Given the description of an element on the screen output the (x, y) to click on. 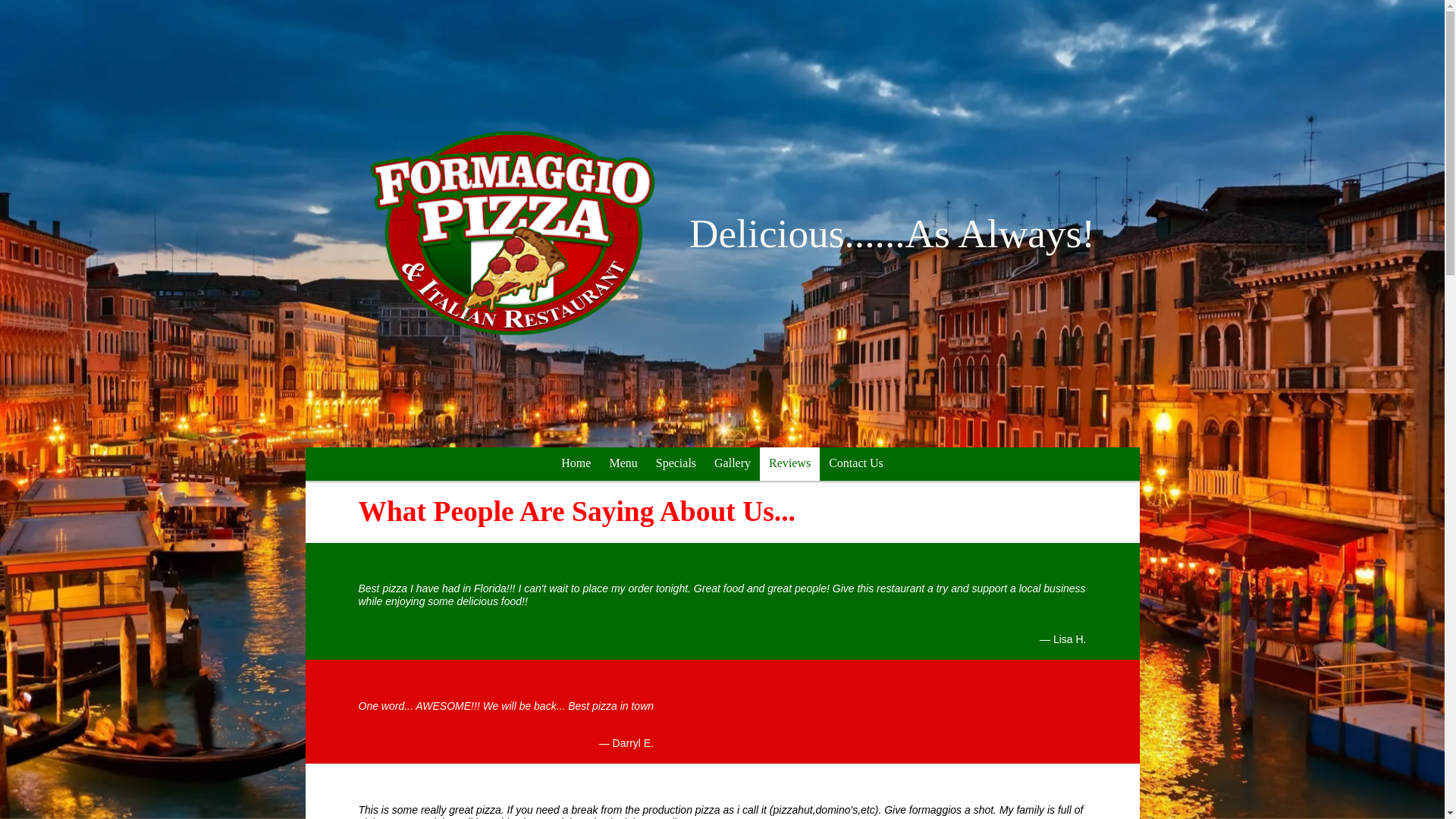
Home (575, 463)
Contact Us (855, 463)
Gallery (732, 463)
Reviews (789, 463)
Menu (622, 463)
Specials (675, 463)
